Given the description of an element on the screen output the (x, y) to click on. 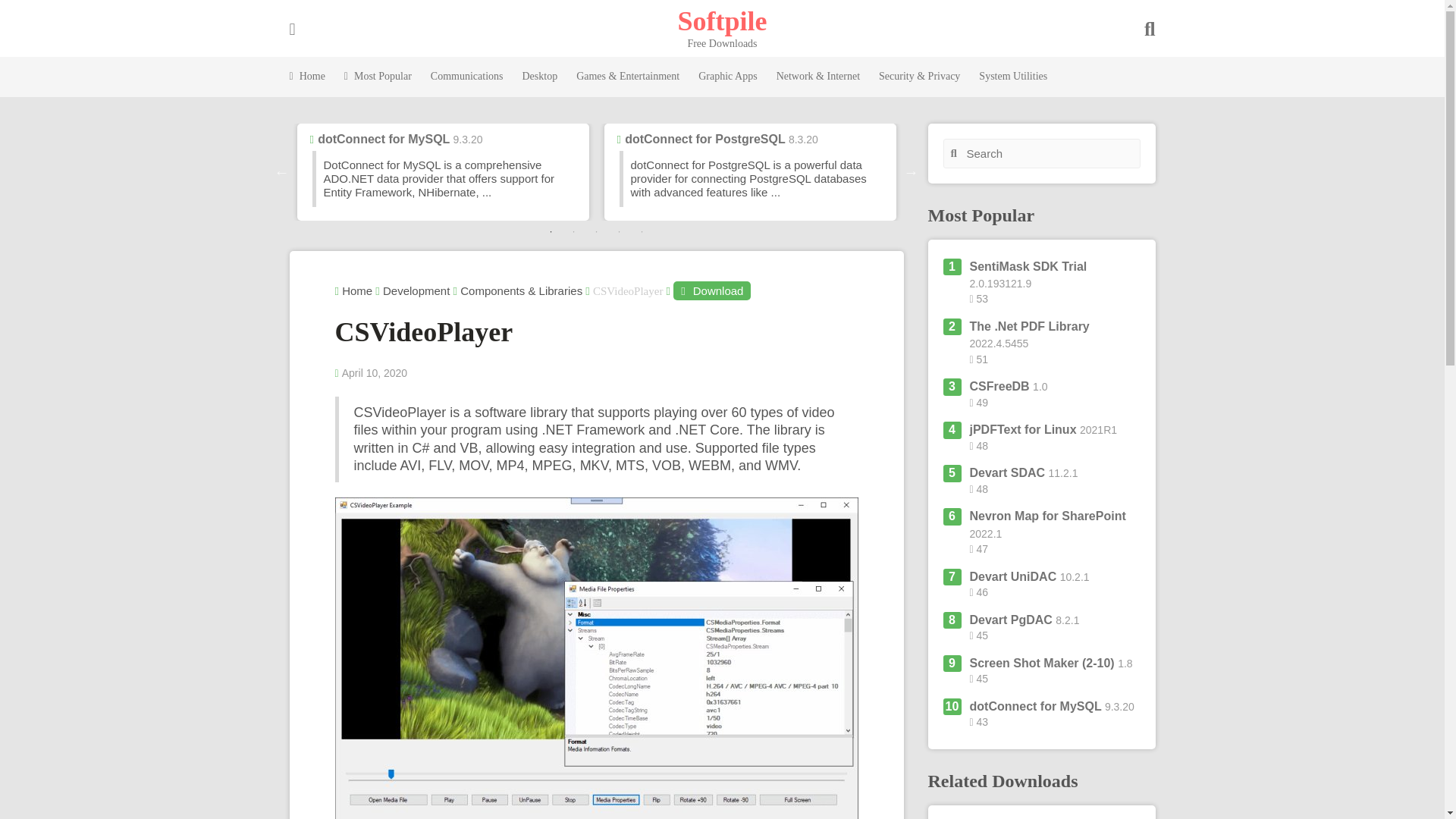
Most Popular (377, 76)
Free Downloads (722, 20)
Softpile (722, 20)
Download CSVideoPlayer 1.0 (711, 290)
System Utilities (1012, 76)
PREVIOUS (282, 171)
Graphic Apps (727, 76)
Communications (466, 76)
dotConnect for PostgreSQL (704, 138)
dotConnect for MySQL (383, 138)
